Given the description of an element on the screen output the (x, y) to click on. 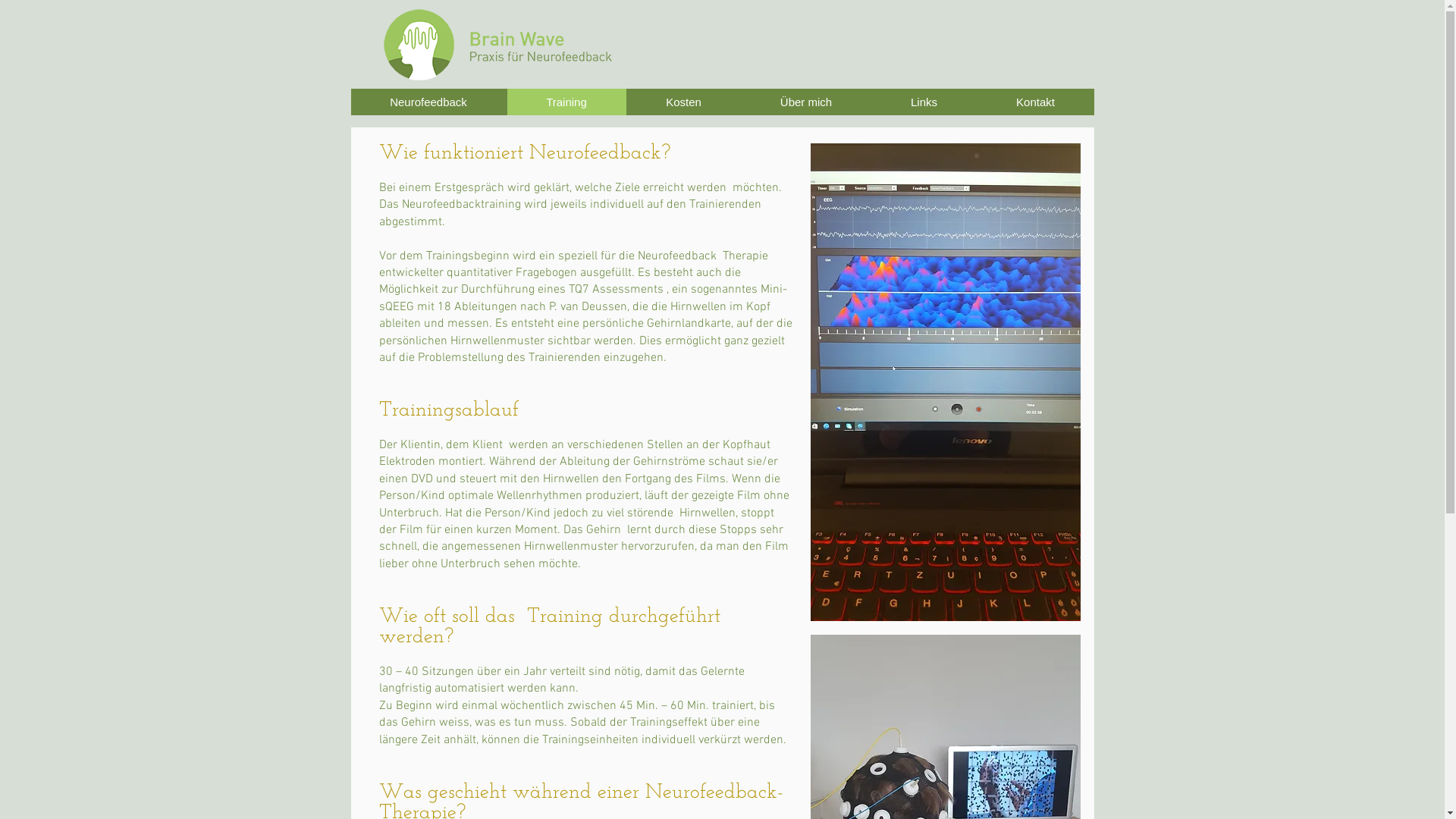
20170201_162641 (1).jpg Element type: hover (944, 382)
Links Element type: text (922, 101)
Kosten Element type: text (683, 101)
Neurofeedback Element type: text (427, 101)
Kontakt Element type: text (1035, 101)
Training Element type: text (566, 101)
